Given the description of an element on the screen output the (x, y) to click on. 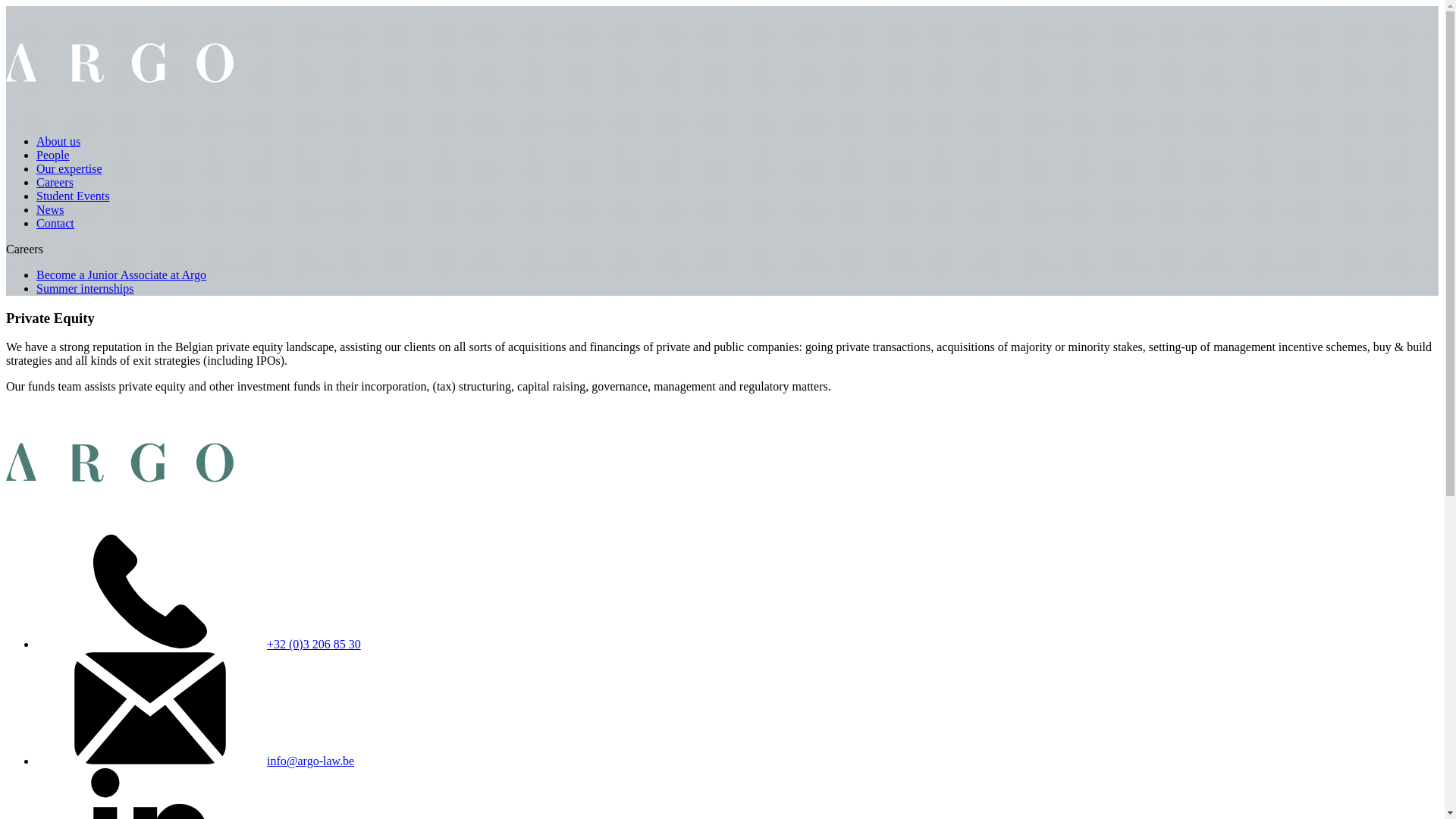
Become a Junior Associate at Argo Element type: text (121, 274)
Home Element type: hover (119, 514)
Our expertise Element type: text (69, 168)
News Element type: text (49, 209)
Student Events Element type: text (72, 195)
Home Element type: hover (119, 115)
About us Element type: text (58, 140)
Careers Element type: text (54, 181)
People Element type: text (52, 154)
info@argo-law.be Element type: text (310, 760)
+32 (0)3 206 85 30 Element type: text (313, 643)
Contact Element type: text (55, 222)
Summer internships Element type: text (84, 288)
